Given the description of an element on the screen output the (x, y) to click on. 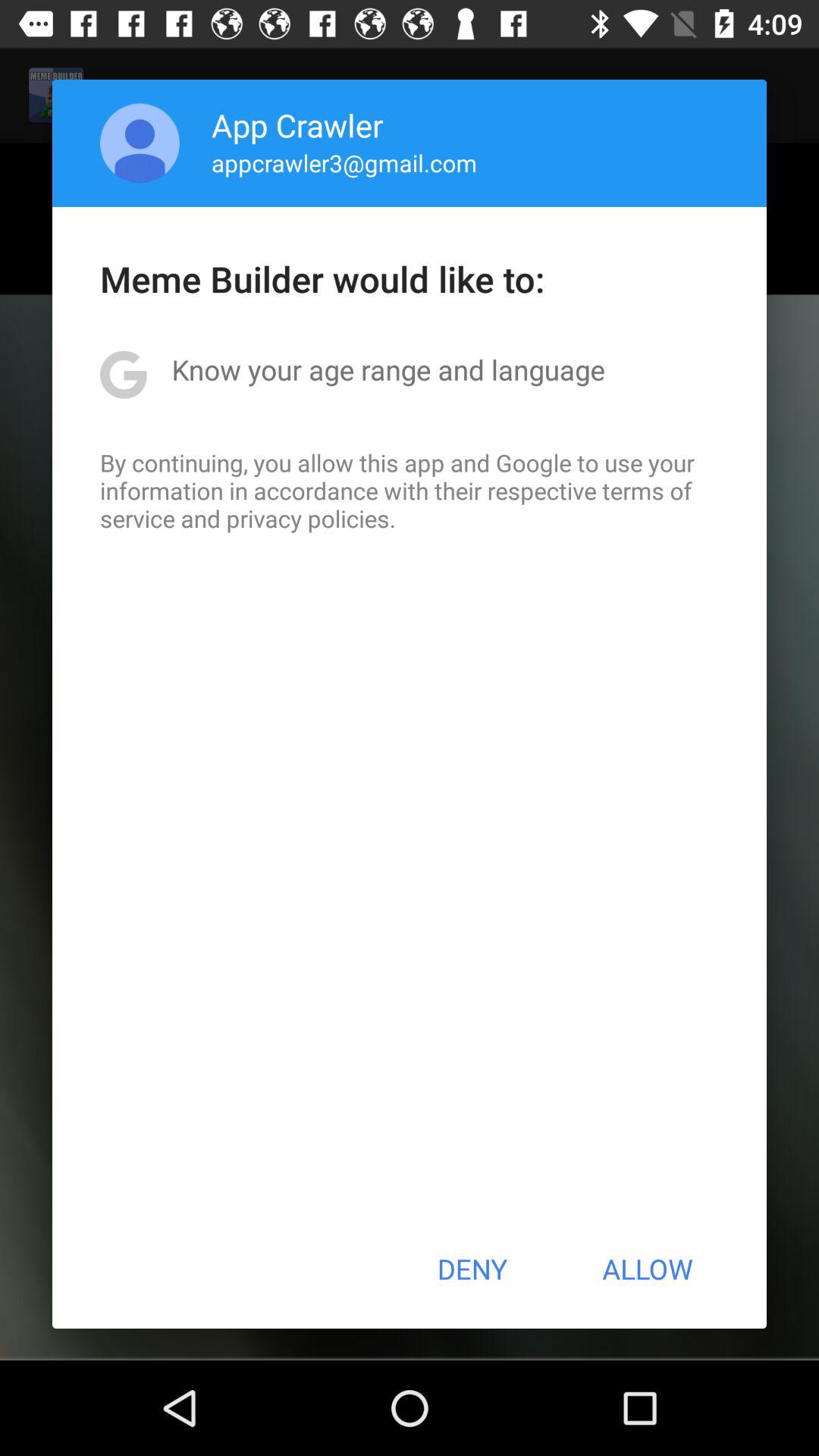
turn off app crawler item (297, 124)
